Given the description of an element on the screen output the (x, y) to click on. 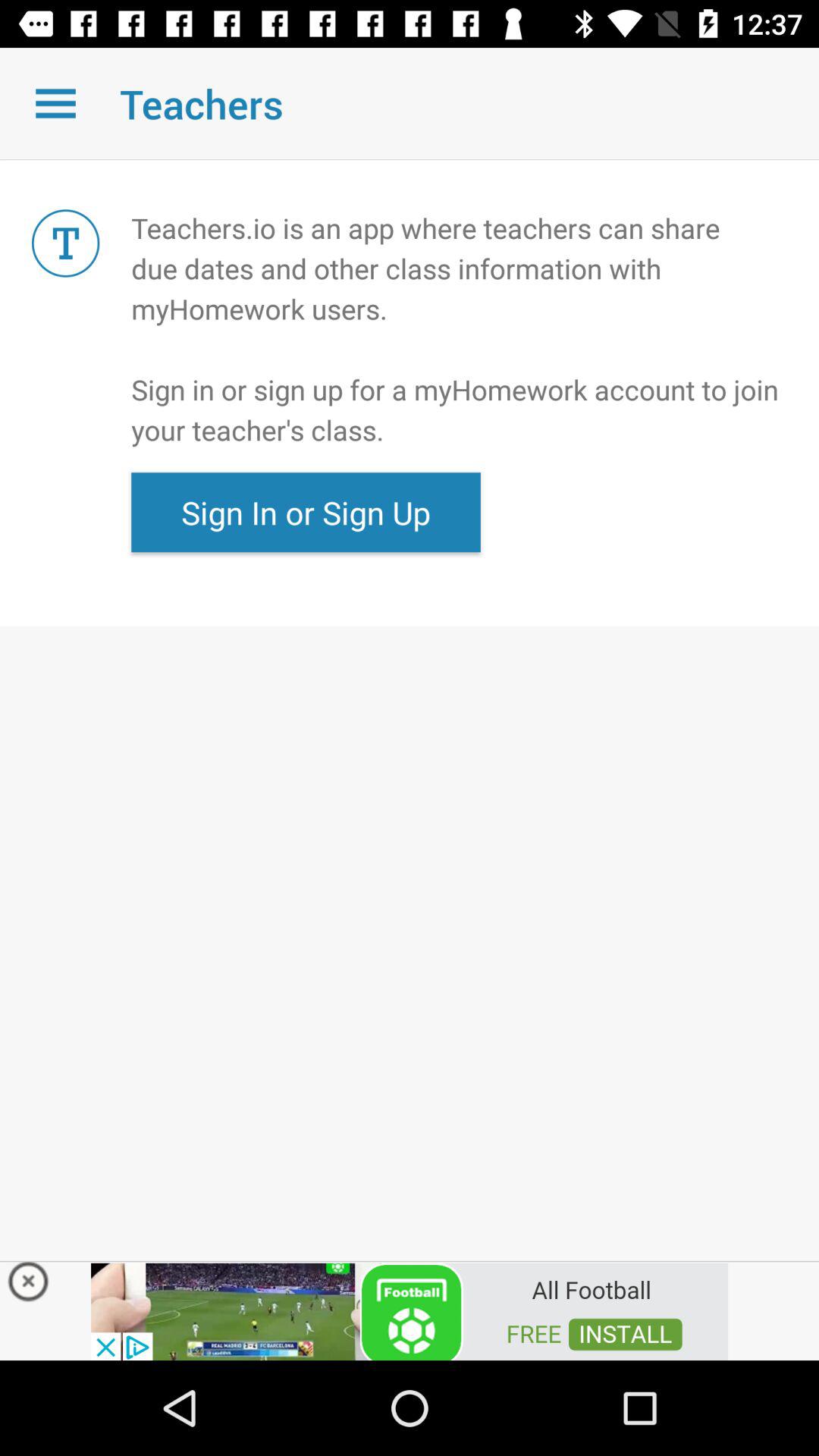
advertisement (409, 1310)
